Given the description of an element on the screen output the (x, y) to click on. 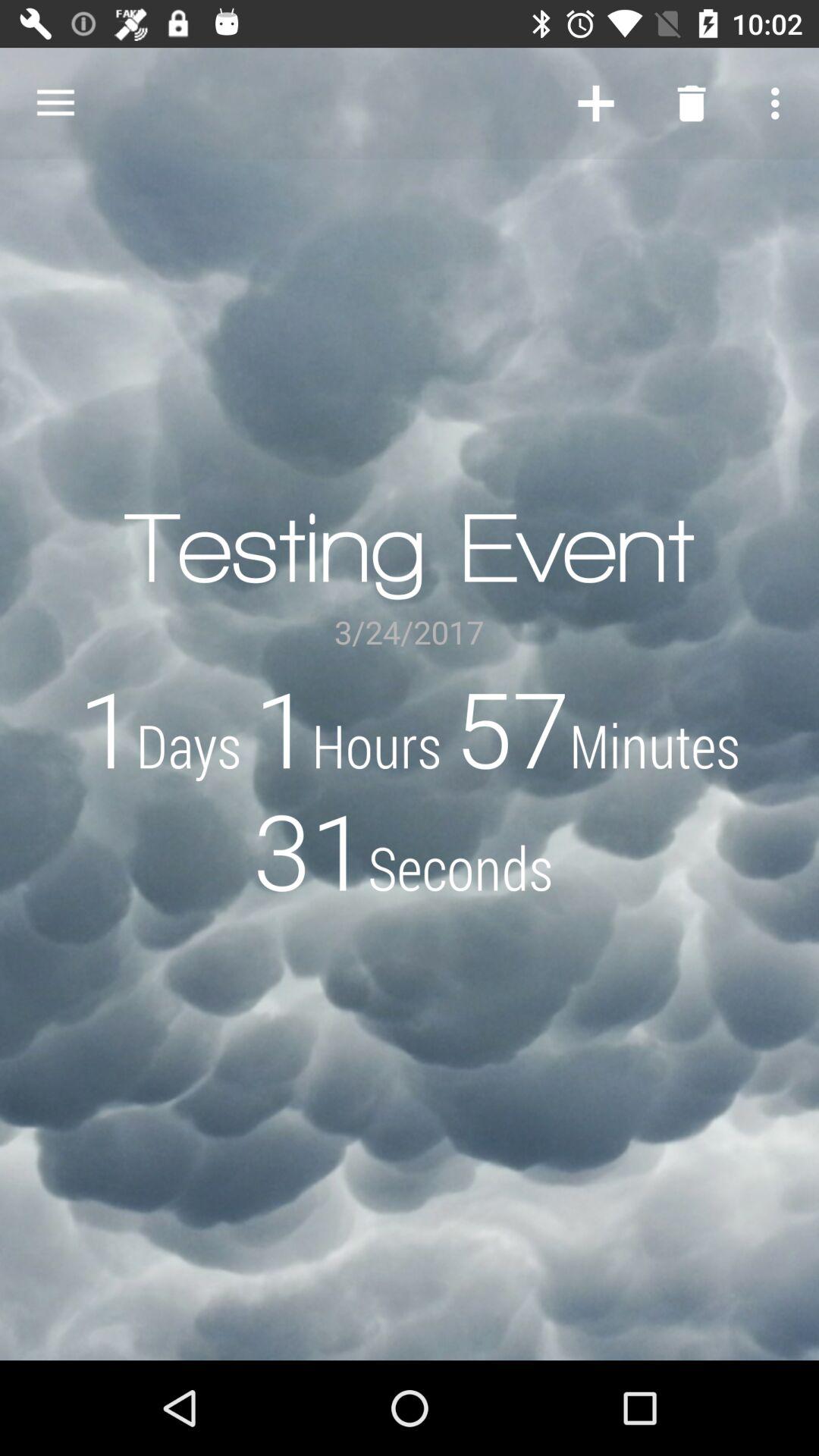
tap the icon above 1days 1hours 57minutes (779, 103)
